Given the description of an element on the screen output the (x, y) to click on. 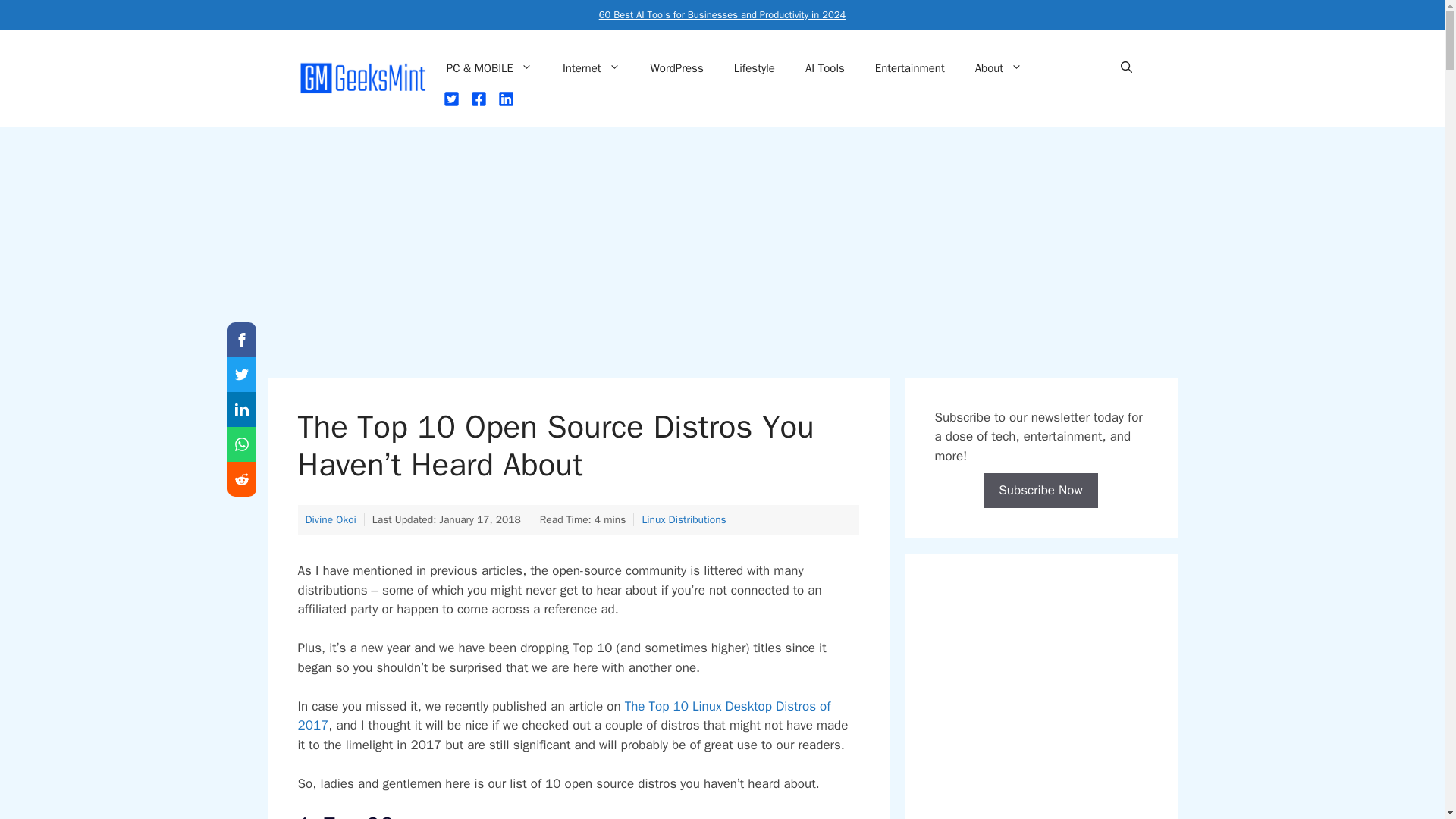
WordPress (676, 67)
Internet (590, 67)
AI Tools (825, 67)
Best AI Tools (721, 14)
Entertainment (909, 67)
Lifestyle (754, 67)
60 Best AI Tools for Businesses and Productivity in 2024 (721, 14)
GeeksMint: Computers, How-to's, Internet, Tips and Tricks (363, 78)
GeeksMint: Computers, How-to's, Internet, Tips and Tricks (363, 77)
View all posts by Divine Okoi (329, 519)
About (997, 67)
